Given the description of an element on the screen output the (x, y) to click on. 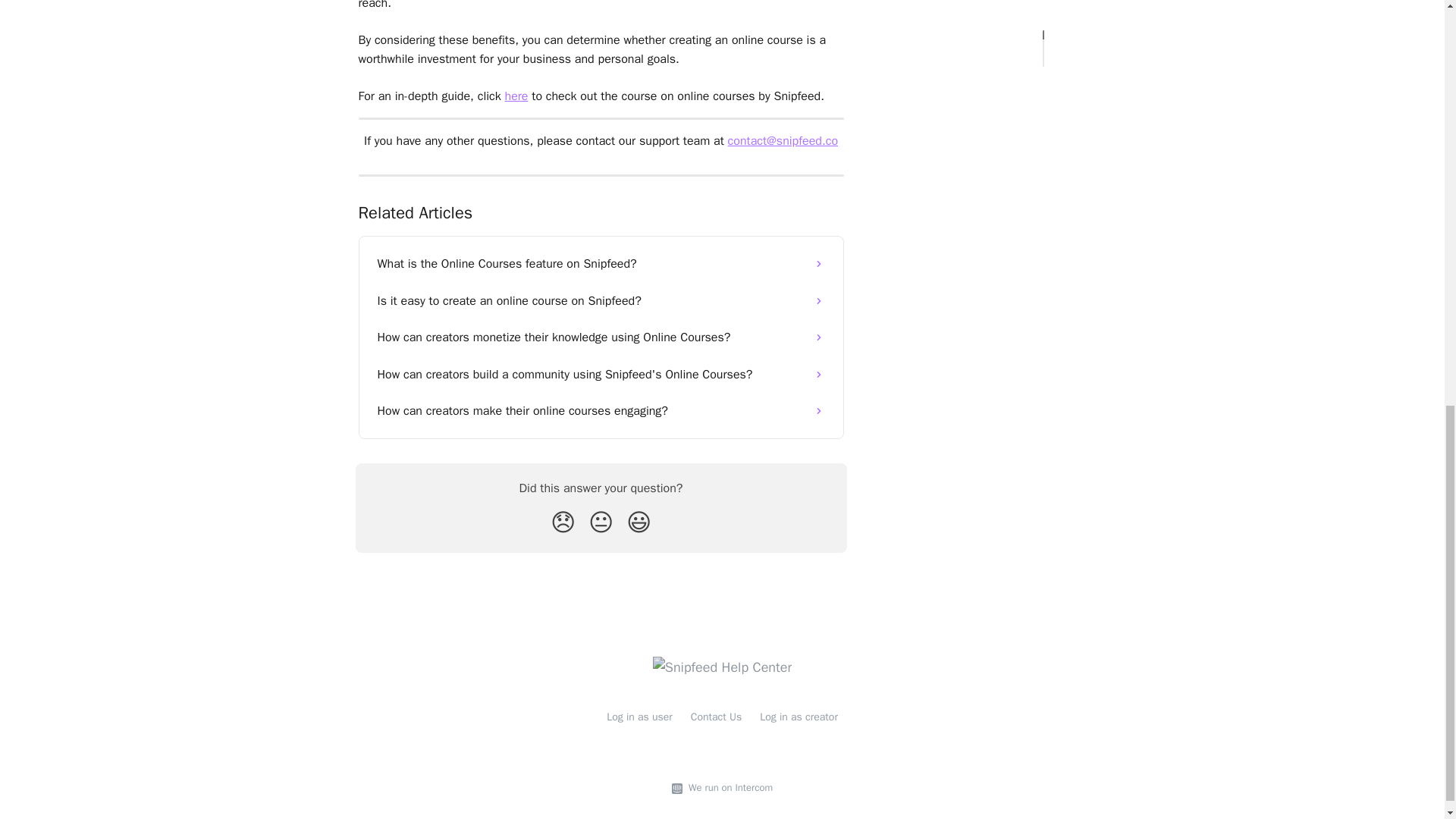
Contact Us (715, 716)
here (516, 96)
What is the Online Courses feature on Snipfeed? (601, 263)
We run on Intercom (727, 788)
How can creators make their online courses engaging? (601, 411)
Log in as user (639, 716)
Log in as creator (799, 716)
Is it easy to create an online course on Snipfeed? (601, 300)
